Given the description of an element on the screen output the (x, y) to click on. 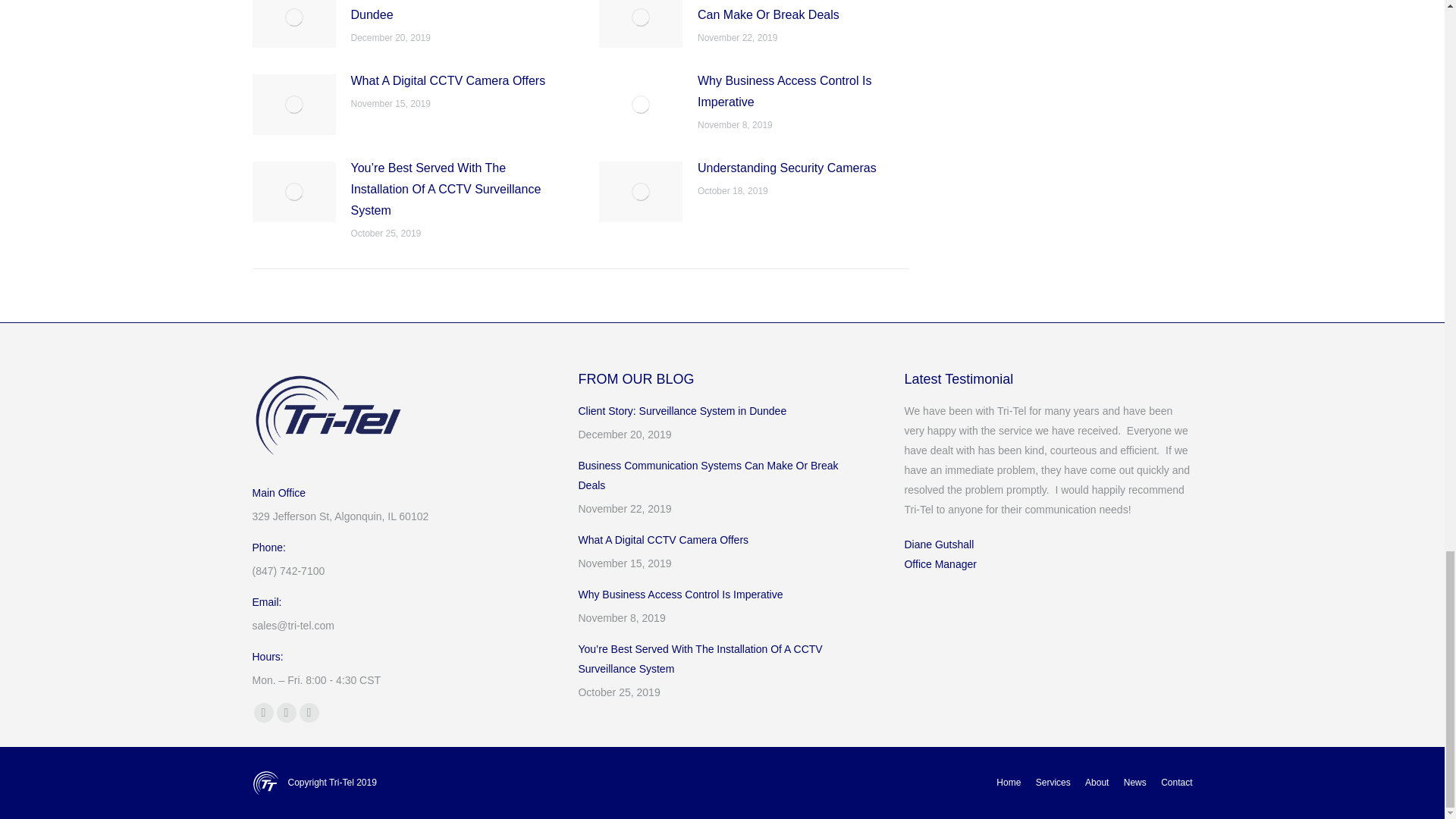
Mail page opens in new window (308, 712)
Linkedin page opens in new window (285, 712)
Facebook page opens in new window (263, 712)
